Given the description of an element on the screen output the (x, y) to click on. 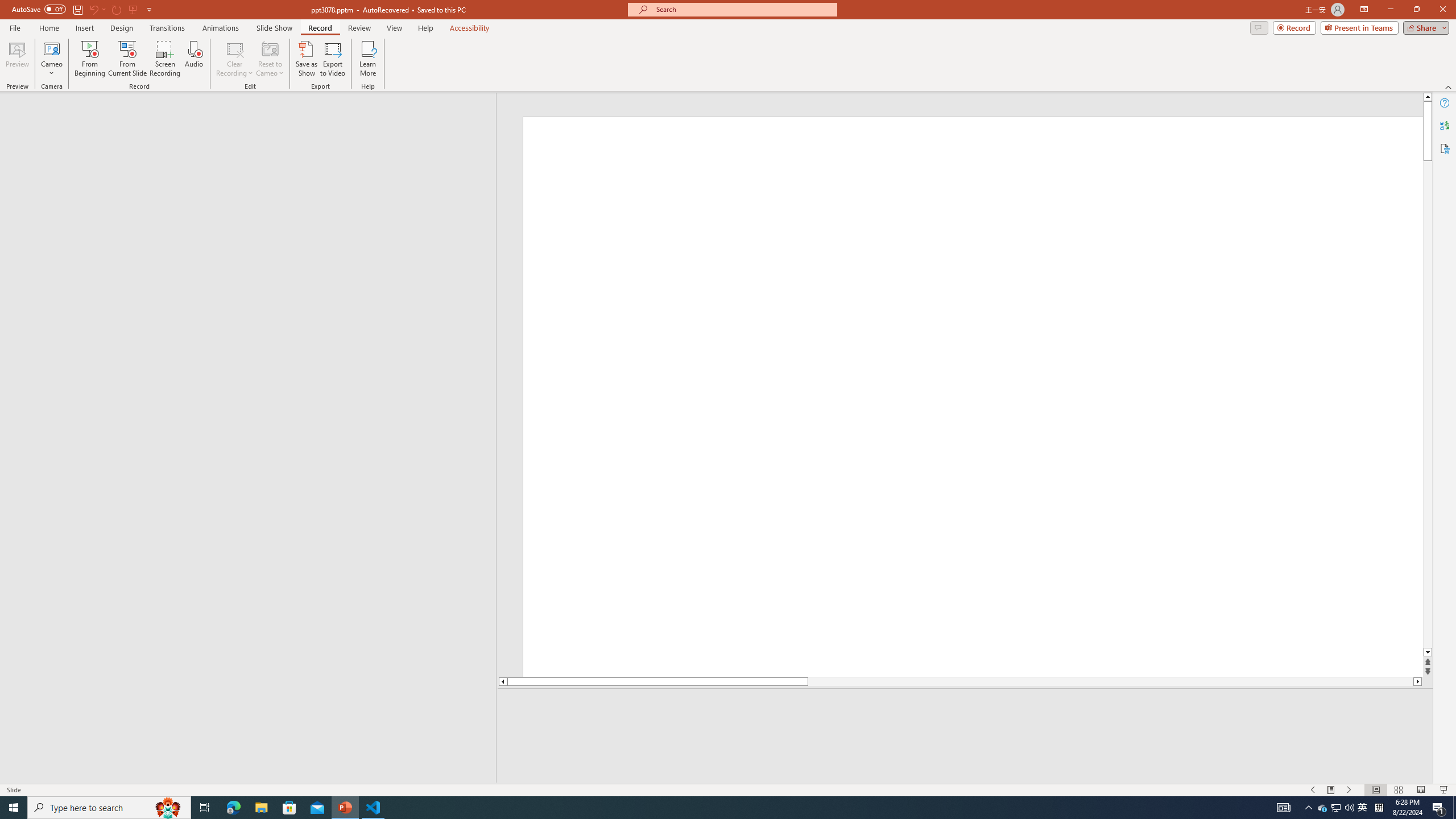
Slide Notes (965, 705)
Slide Show Next On (1349, 790)
